Given the description of an element on the screen output the (x, y) to click on. 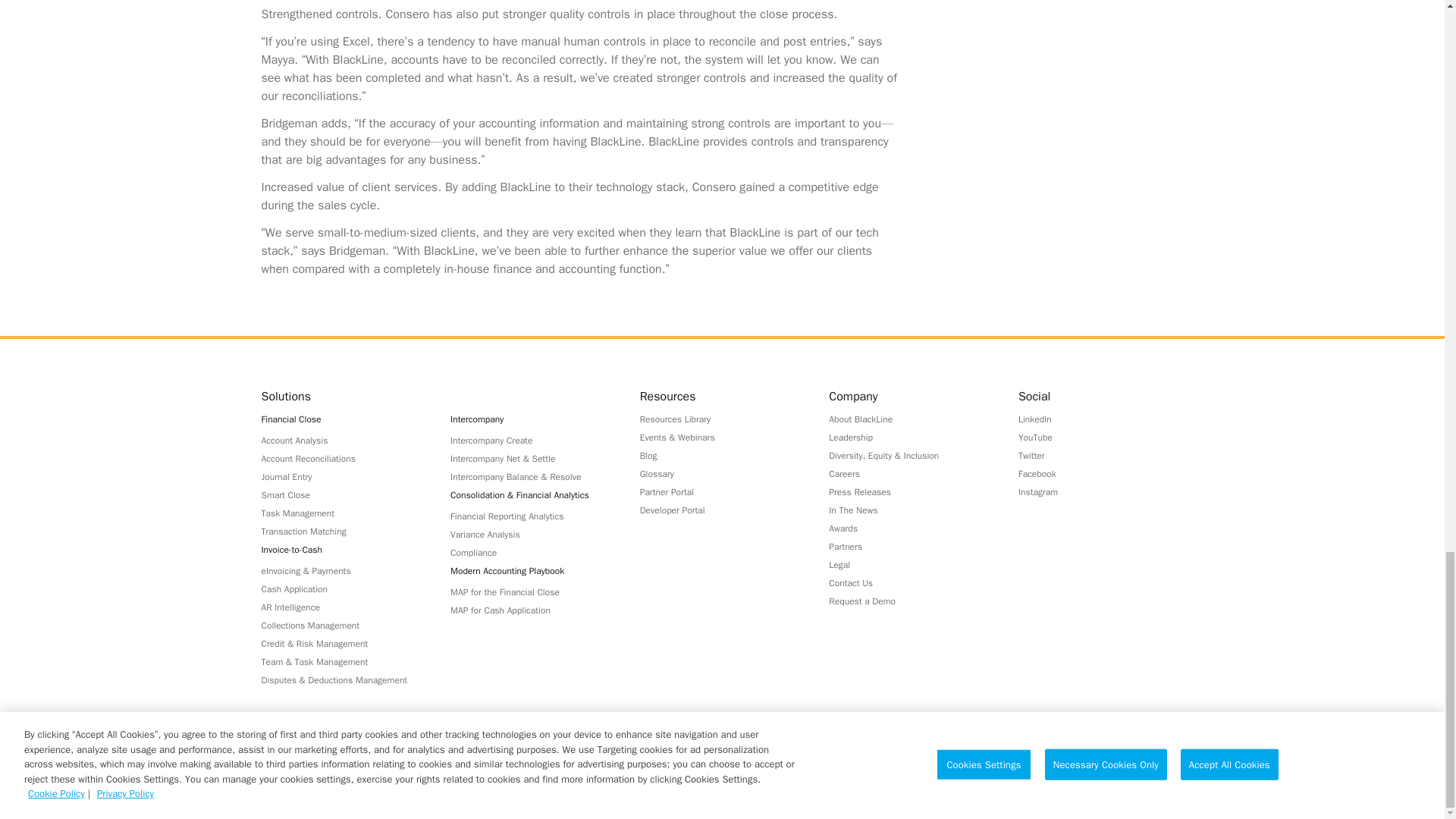
Journal Entry (343, 476)
MAP for the Financial Close (532, 591)
AR Intelligence (343, 607)
Variance Analysis (532, 534)
Developer Portal (722, 509)
Blog (722, 455)
Cash Application (343, 589)
Resources Library (722, 418)
Collections Management (343, 625)
Intercompany Create (532, 440)
Task Management (343, 513)
MAP for Cash Application (532, 610)
Financial Reporting Analytics (532, 516)
Glossary (722, 473)
Transaction Matching (343, 531)
